Given the description of an element on the screen output the (x, y) to click on. 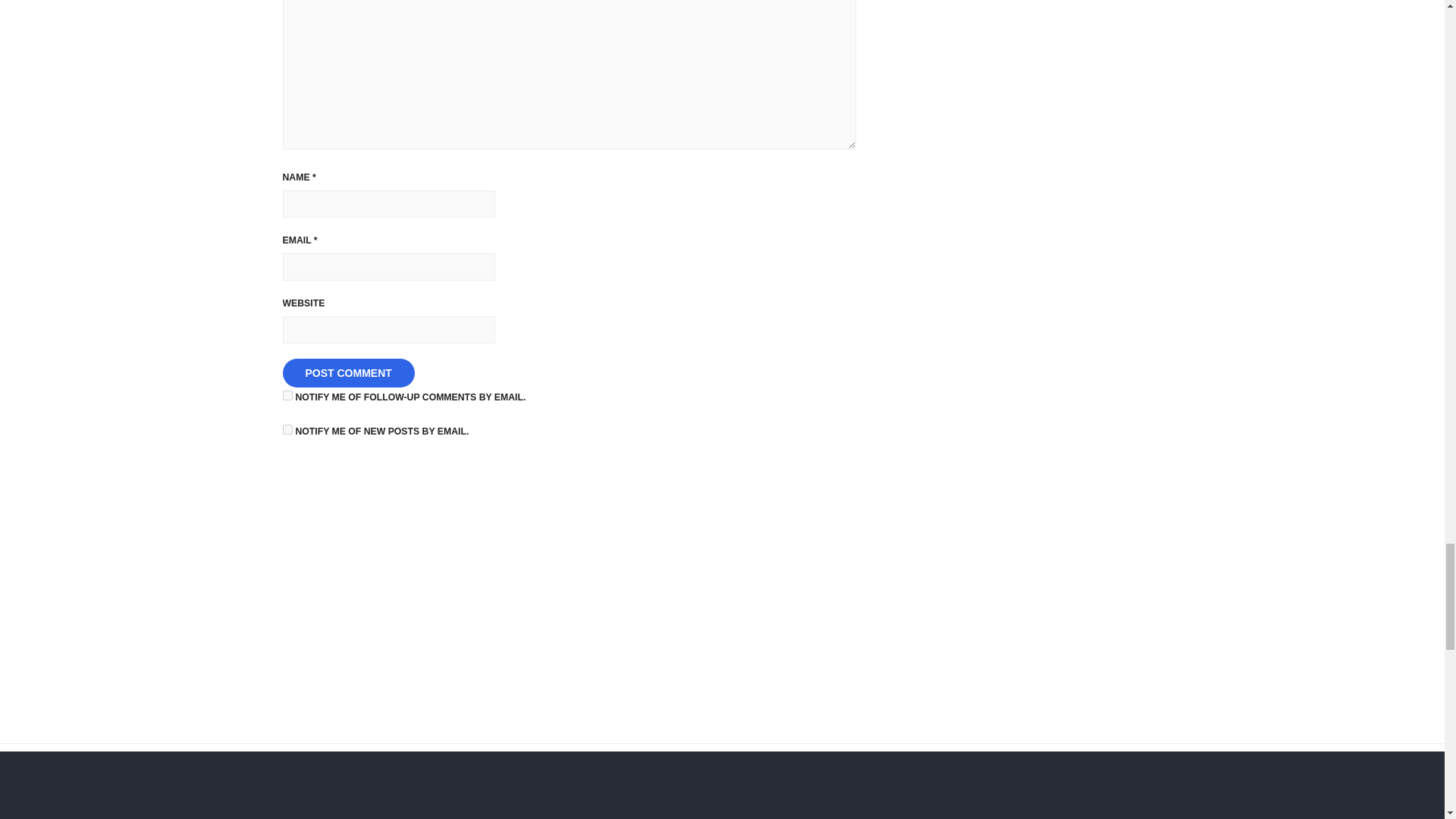
Post Comment (347, 372)
Post Comment (347, 372)
subscribe (287, 429)
subscribe (287, 395)
